Given the description of an element on the screen output the (x, y) to click on. 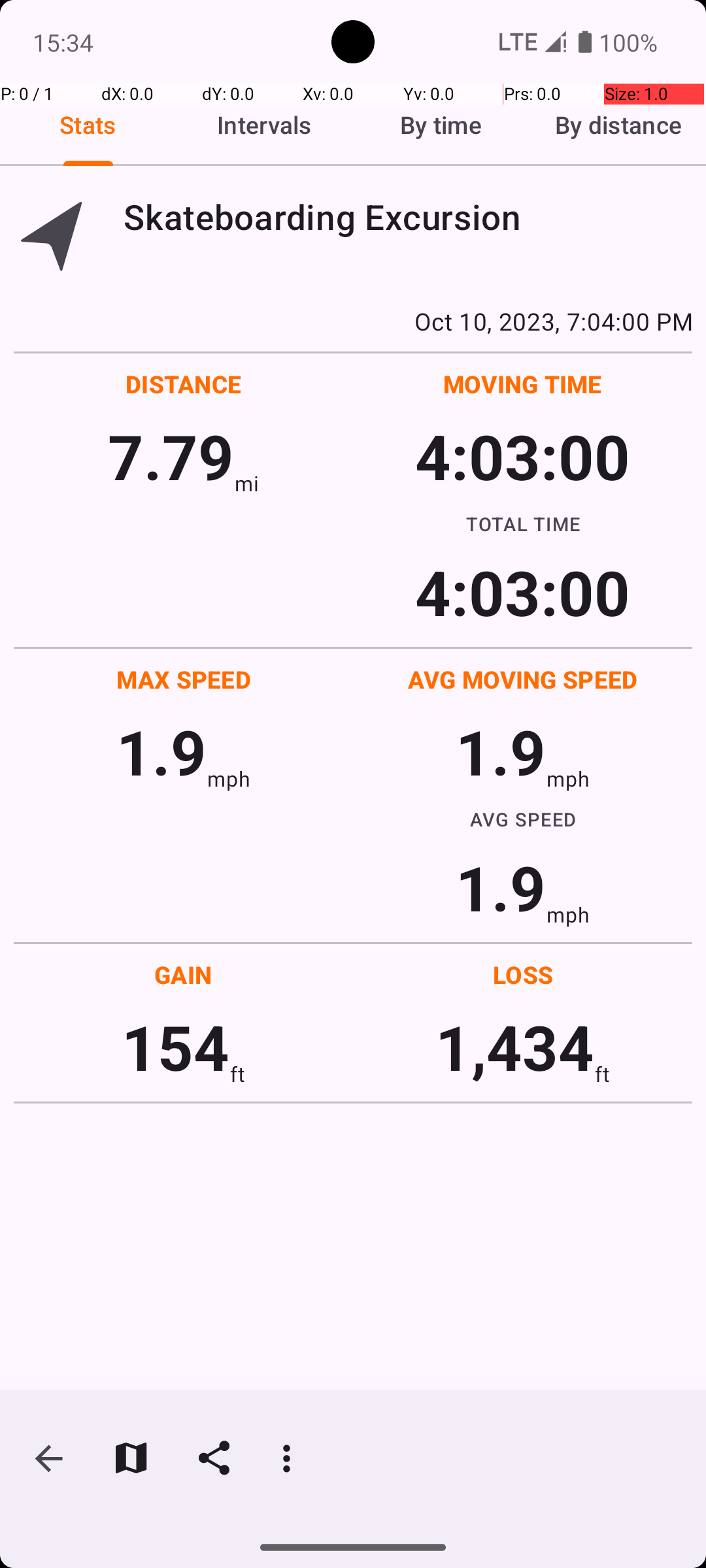
Skateboarding Excursion Element type: android.widget.TextView (407, 216)
Oct 10, 2023, 7:04:00 PM Element type: android.widget.TextView (352, 320)
7.79 Element type: android.widget.TextView (170, 455)
4:03:00 Element type: android.widget.TextView (522, 455)
1.9 Element type: android.widget.TextView (161, 750)
154 Element type: android.widget.TextView (175, 1045)
1,434 Element type: android.widget.TextView (514, 1045)
